Given the description of an element on the screen output the (x, y) to click on. 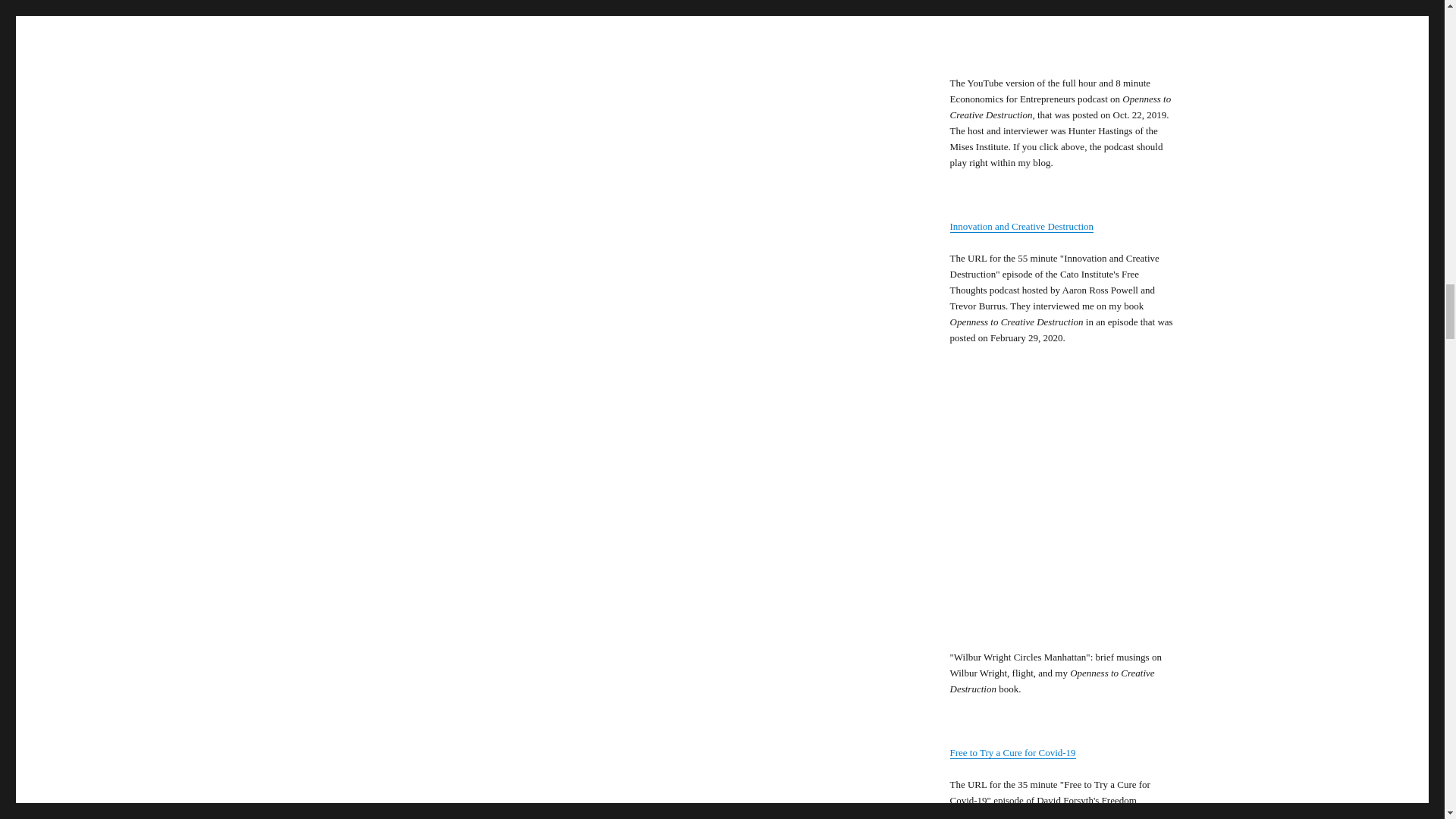
Innovation and Creative Destruction (1021, 225)
Free to Try a Cure for Covid-19 (1012, 752)
